Given the description of an element on the screen output the (x, y) to click on. 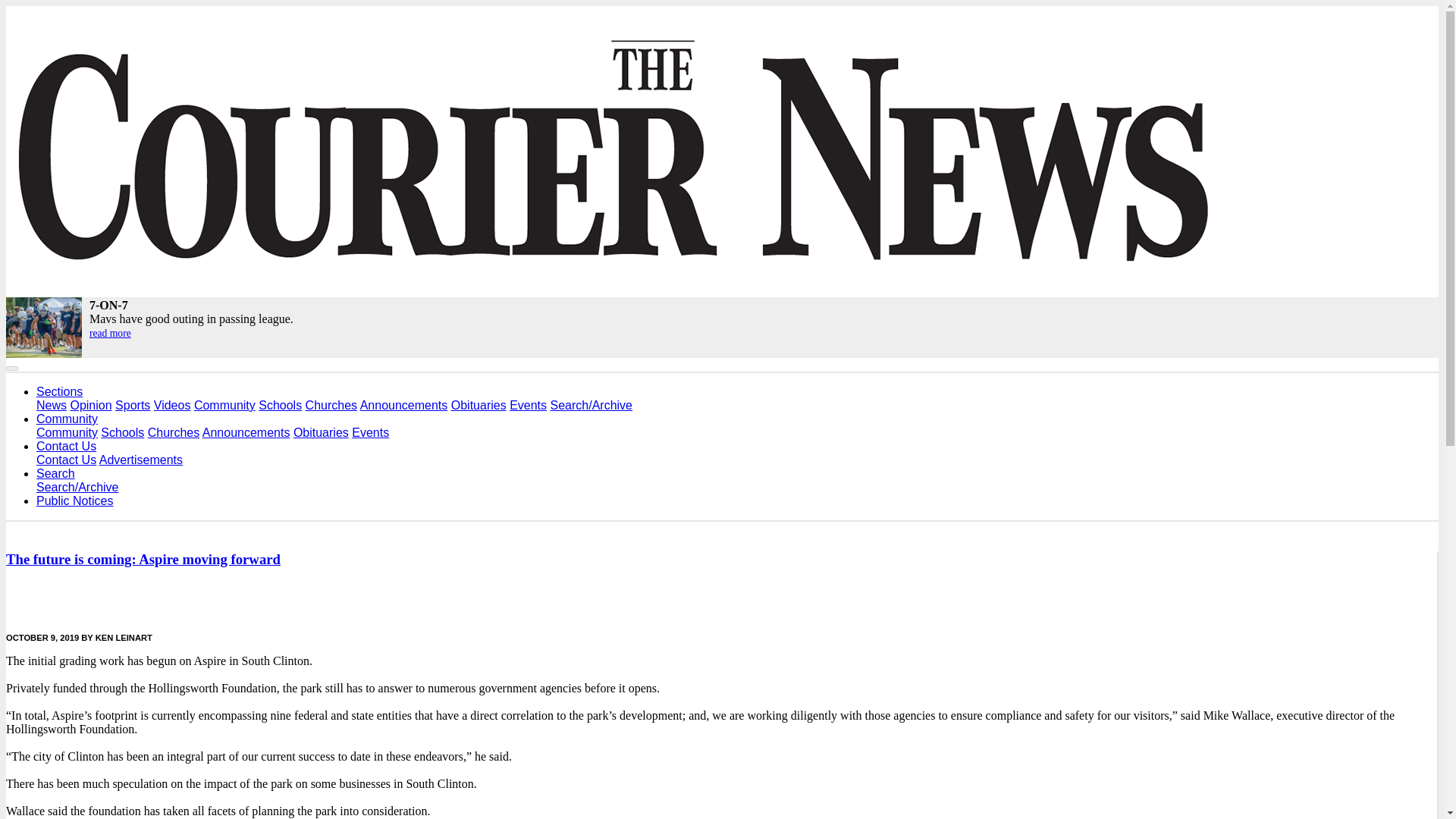
Search (55, 472)
Announcements (403, 404)
Events (528, 404)
News (51, 404)
Churches (173, 431)
Sections (59, 391)
Contact Us (66, 459)
Schools (280, 404)
Advertisements (141, 459)
read more (109, 333)
